Given the description of an element on the screen output the (x, y) to click on. 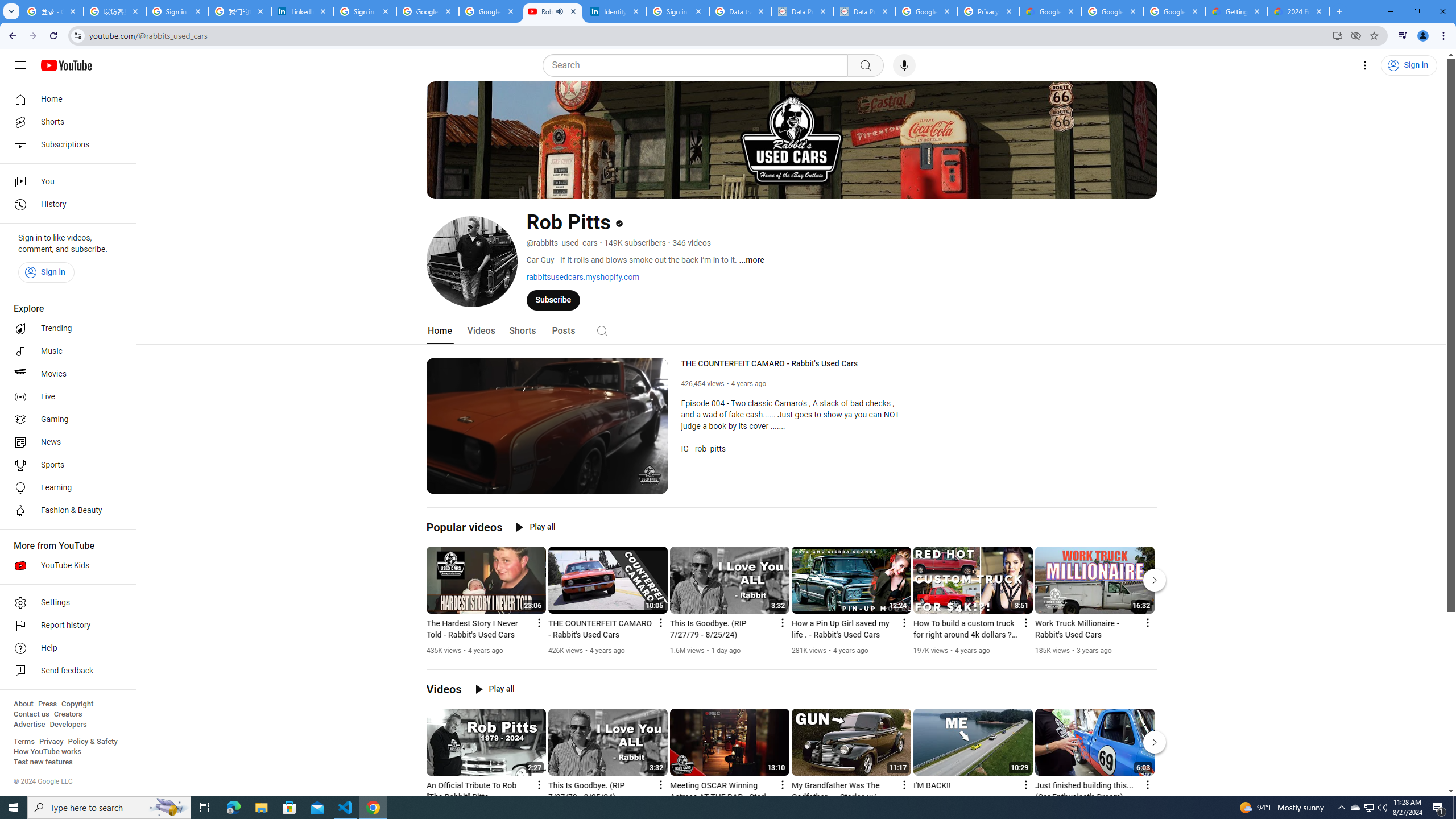
Search (697, 65)
Settings (64, 602)
Seek slider (546, 471)
Settings (1365, 65)
Sports (64, 464)
Google Workspace - Specific Terms (1111, 11)
Home (64, 99)
Contact us (31, 714)
Subscriptions (64, 144)
Next (1154, 741)
